Given the description of an element on the screen output the (x, y) to click on. 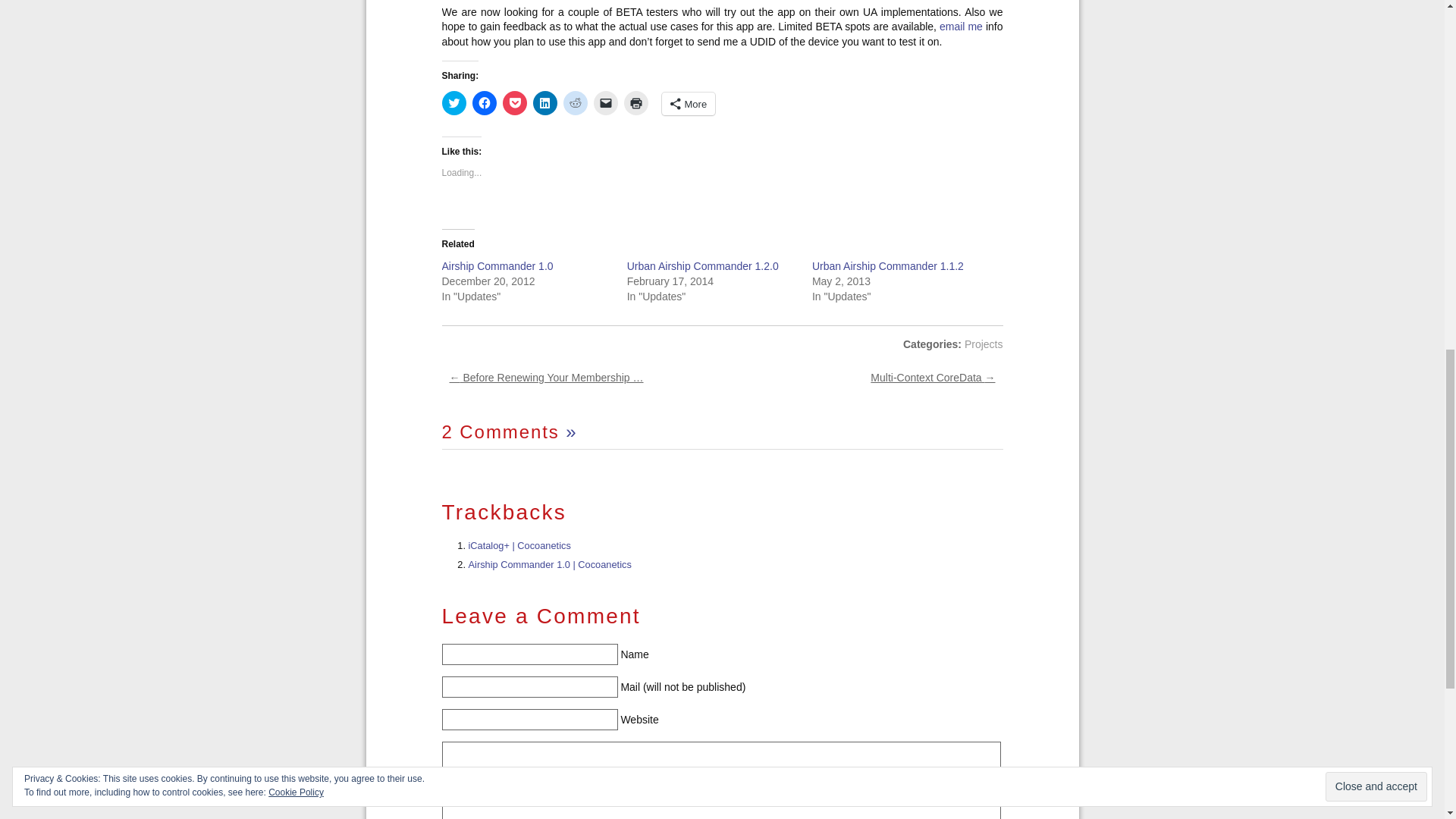
Urban Airship Commander 1.2.0 (702, 265)
Click to share on Facebook (483, 102)
Urban Airship Commander 1.1.2 (887, 265)
email me (960, 26)
Click to print (635, 102)
Click to share on Pocket (513, 102)
Projects (983, 344)
Click to share on Twitter (453, 102)
Airship Commander 1.0 (497, 265)
Airship Commander 1.0 (497, 265)
Click to email a link to a friend (604, 102)
Click to share on LinkedIn (544, 102)
Click to share on Reddit (574, 102)
Urban Airship Commander 1.2.0 (702, 265)
Urban Airship Commander 1.1.2 (887, 265)
